Given the description of an element on the screen output the (x, y) to click on. 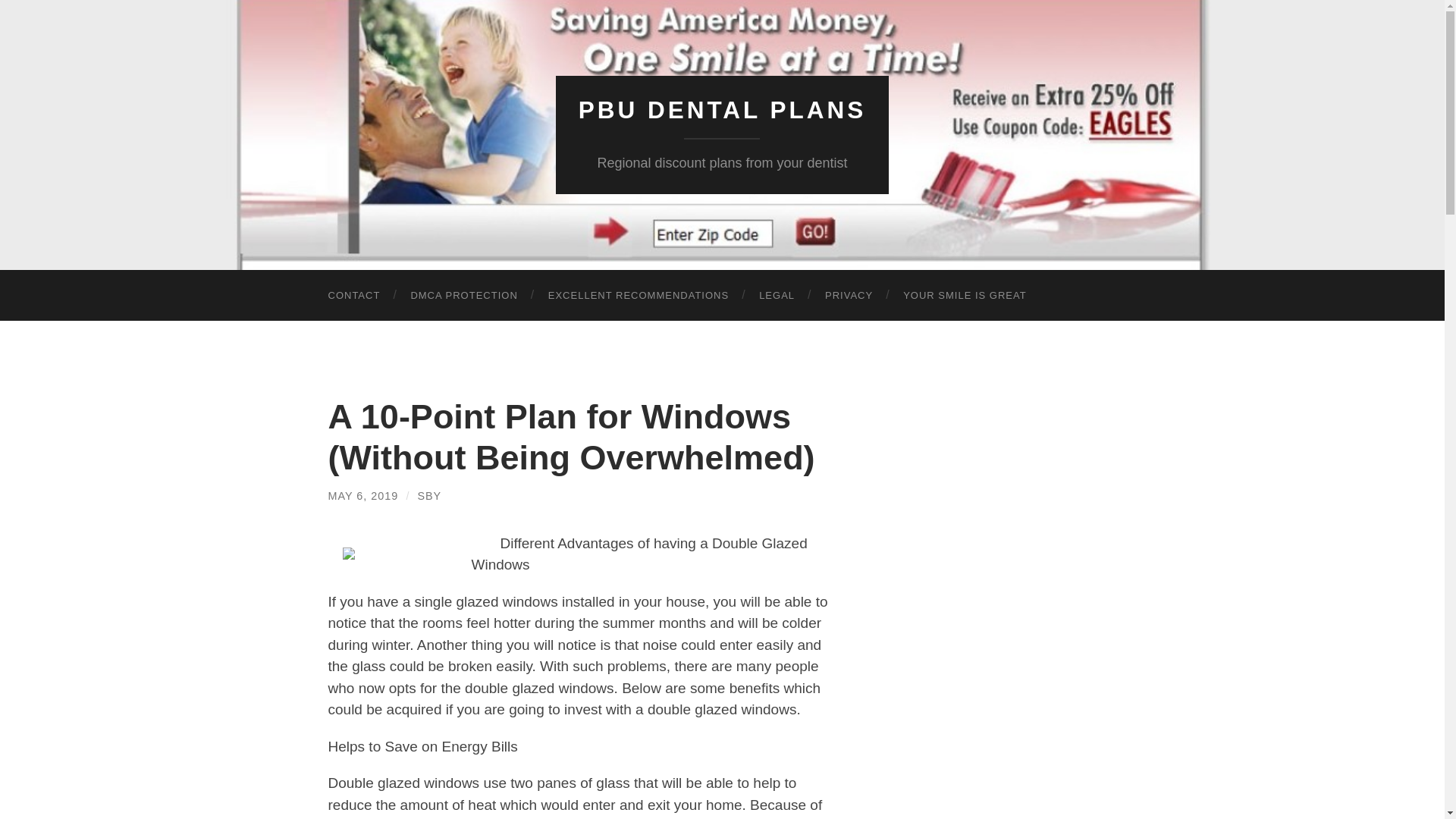
MAY 6, 2019 (362, 495)
YOUR SMILE IS GREAT (965, 295)
SBY (428, 495)
LEGAL (776, 295)
PRIVACY (848, 295)
CONTACT (353, 295)
PBU DENTAL PLANS (722, 109)
EXCELLENT RECOMMENDATIONS (638, 295)
Posts by sby (428, 495)
DMCA PROTECTION (463, 295)
